Given the description of an element on the screen output the (x, y) to click on. 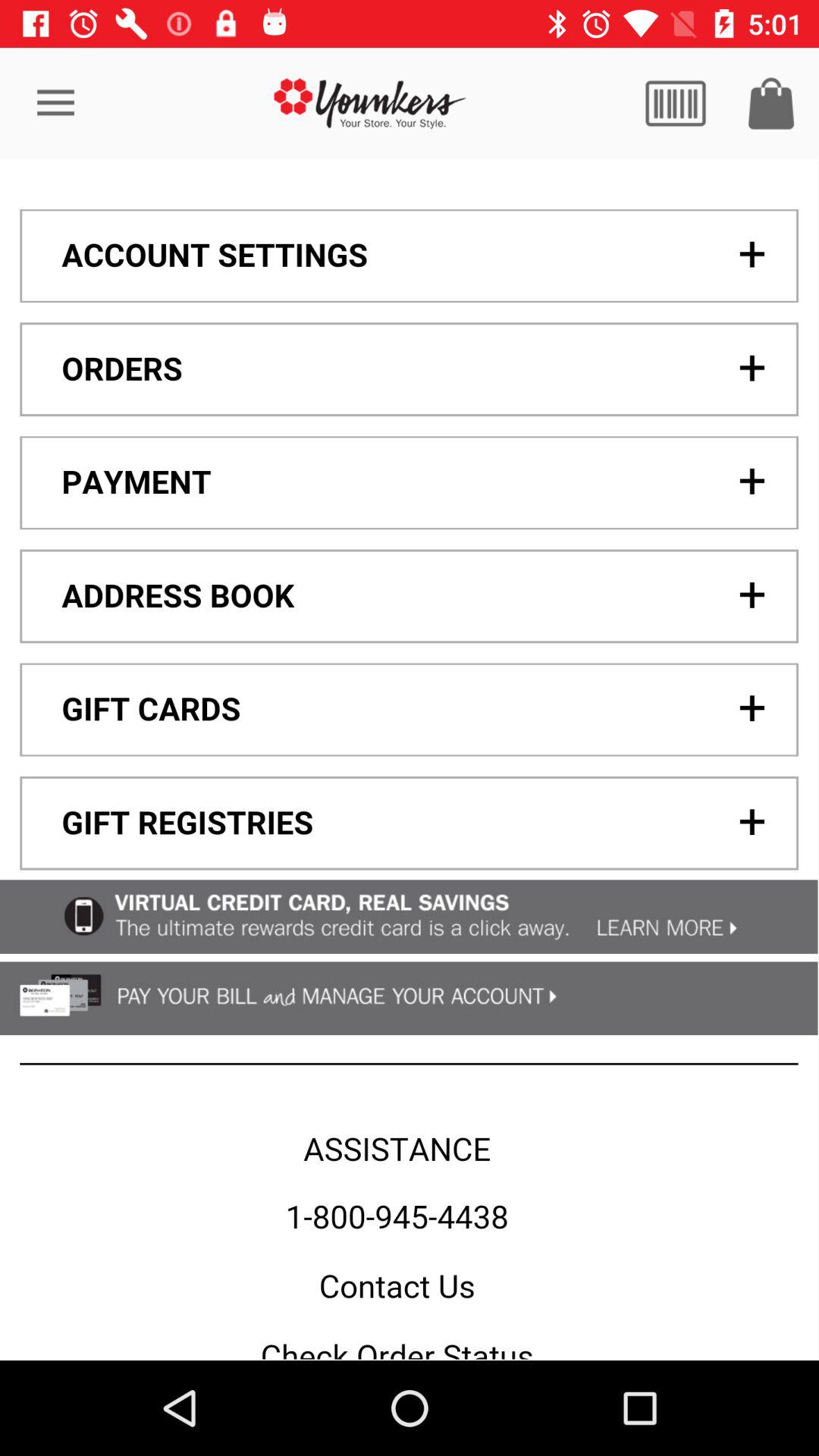
inbox the article (771, 103)
